Given the description of an element on the screen output the (x, y) to click on. 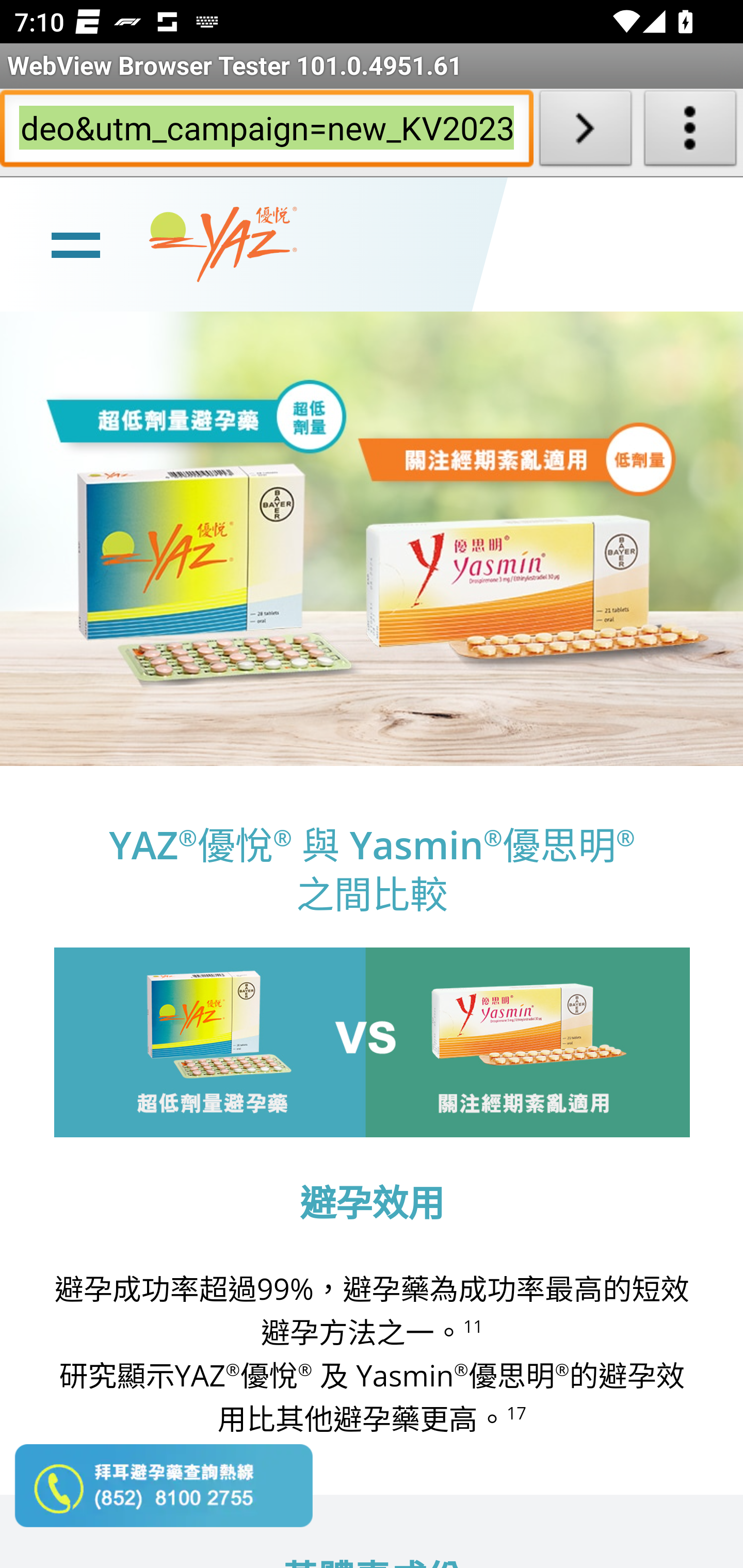
Load URL (585, 132)
About WebView (690, 132)
www.yaz (222, 244)
line Toggle burger menu (75, 242)
